Given the description of an element on the screen output the (x, y) to click on. 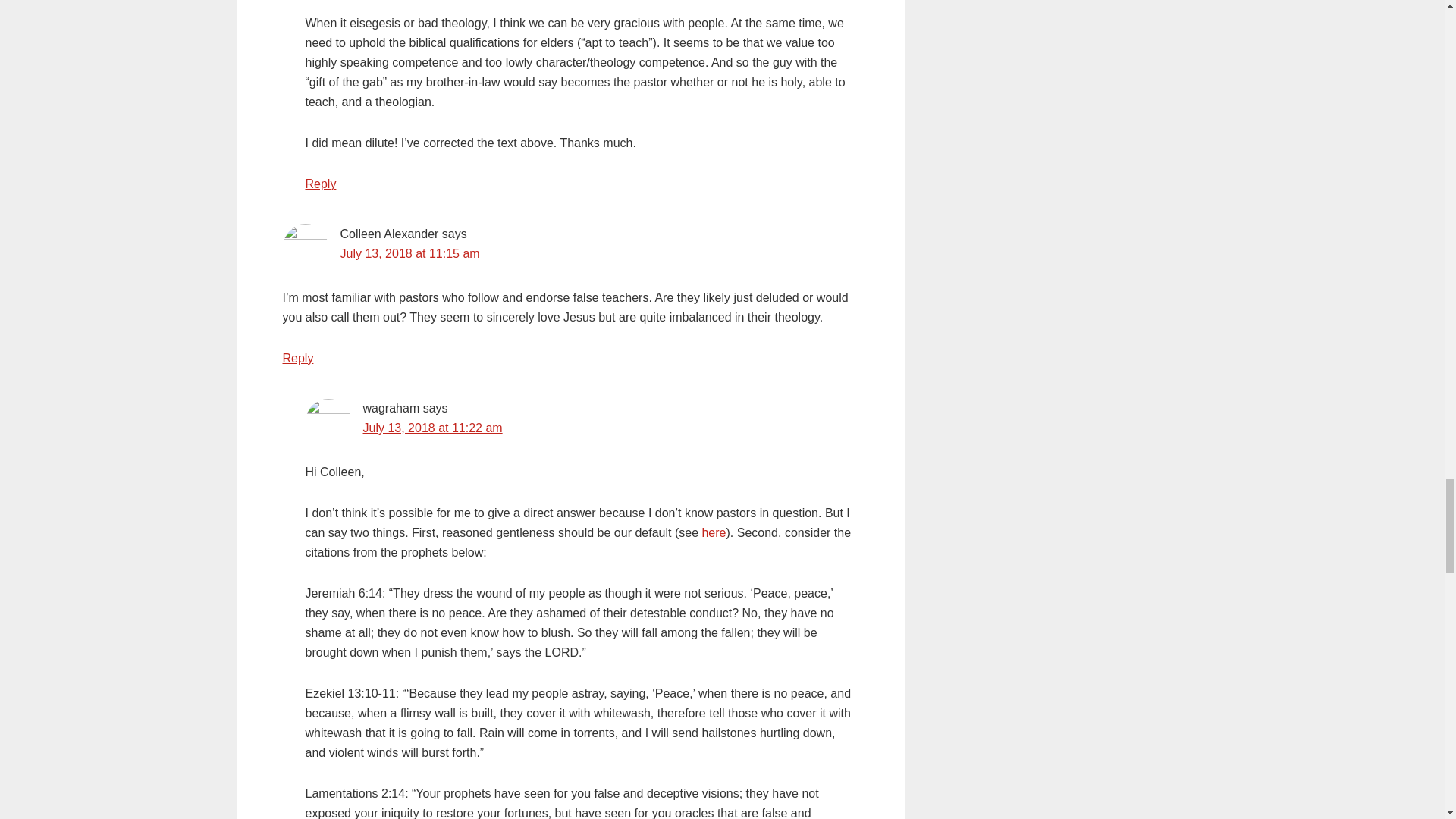
July 13, 2018 at 11:22 am (432, 427)
Reply (297, 358)
here (713, 532)
July 13, 2018 at 11:15 am (409, 253)
Reply (320, 183)
